Given the description of an element on the screen output the (x, y) to click on. 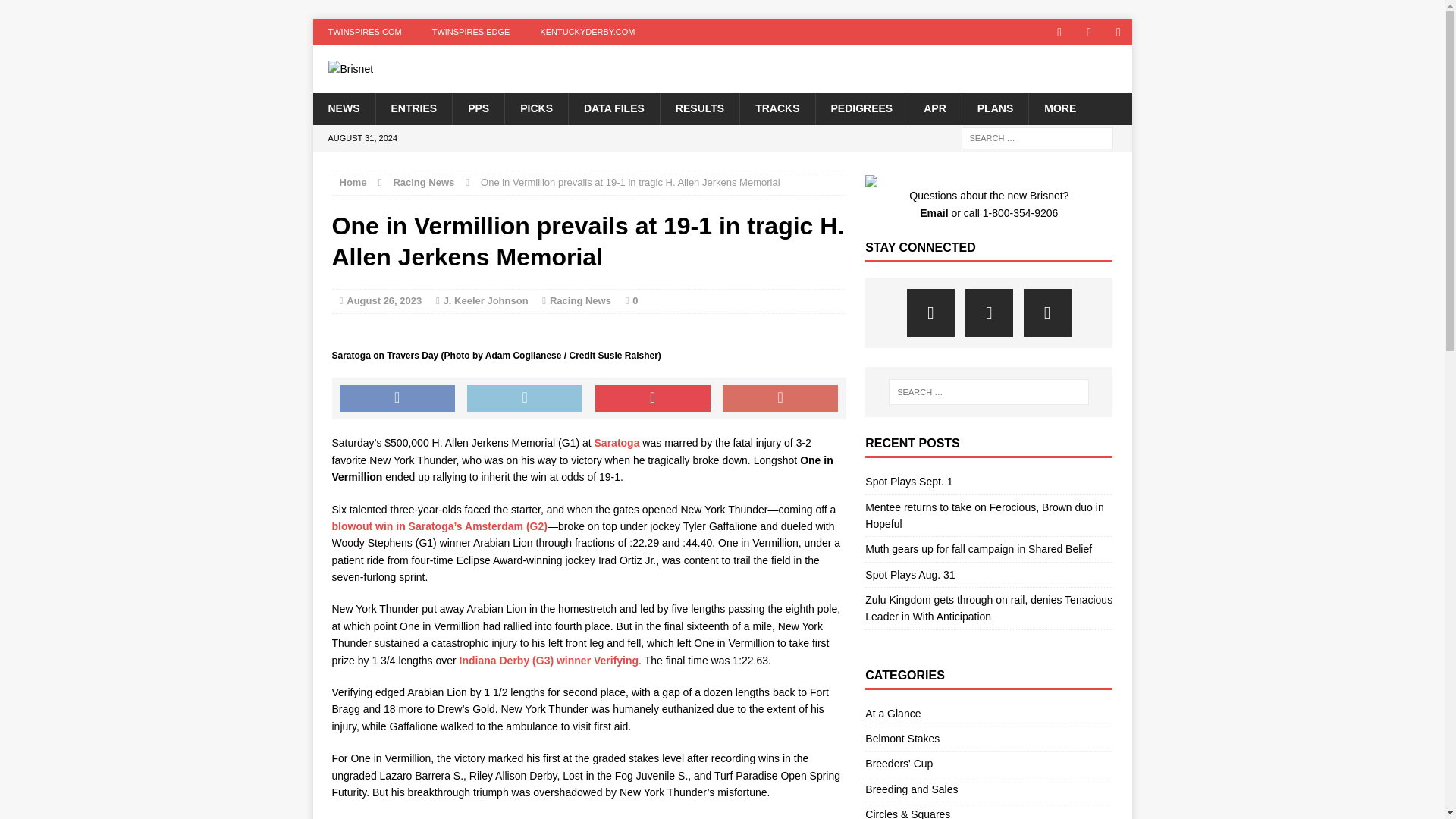
APR (933, 108)
J. Keeler Johnson (486, 300)
Search (37, 11)
PPS (477, 108)
Saratoga (617, 442)
ENTRIES (412, 108)
KENTUCKYDERBY.COM (586, 31)
TWINSPIRES.COM (364, 31)
PLANS (993, 108)
Racing News (580, 300)
